Given the description of an element on the screen output the (x, y) to click on. 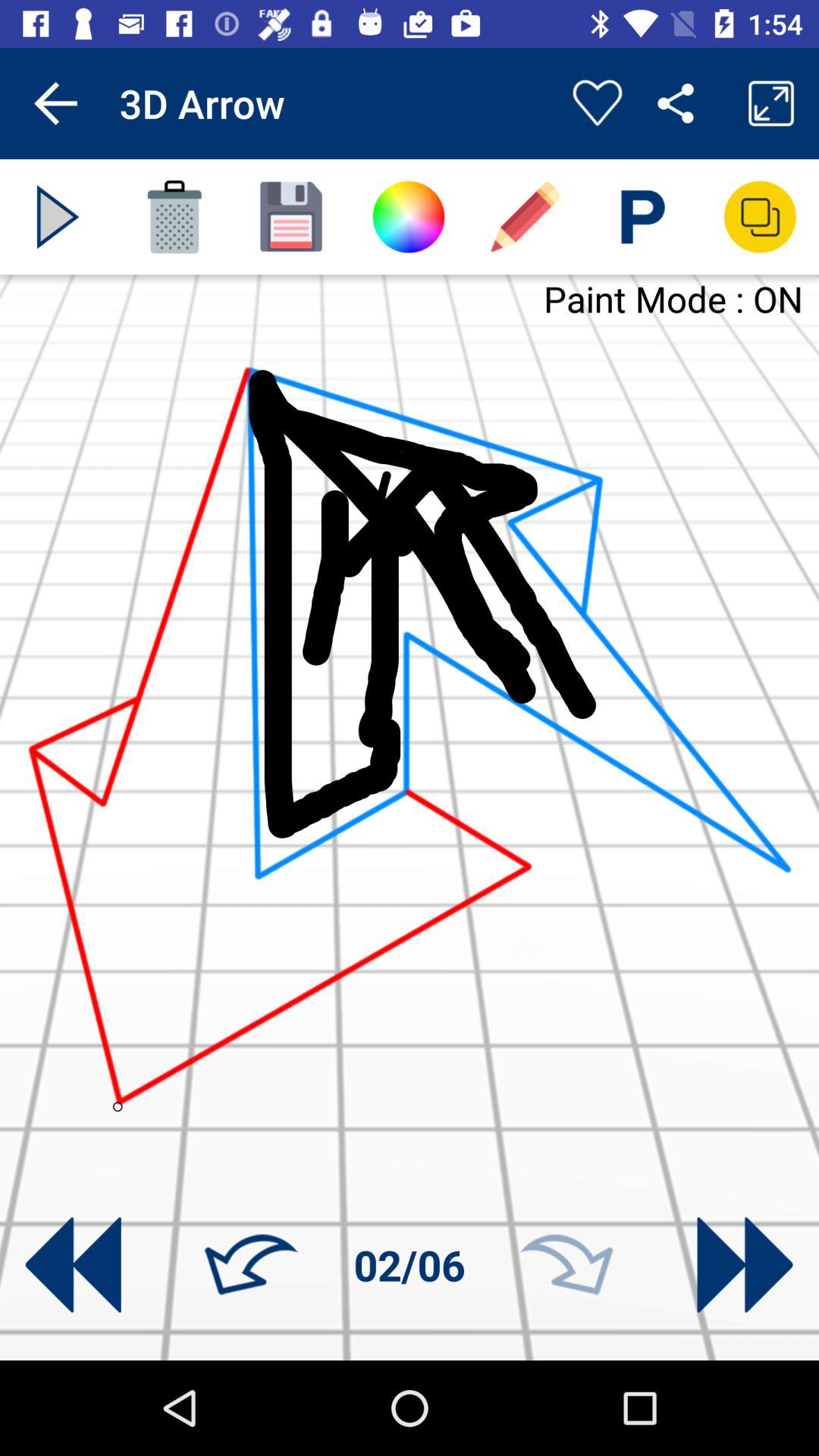
turn left (251, 1264)
